Given the description of an element on the screen output the (x, y) to click on. 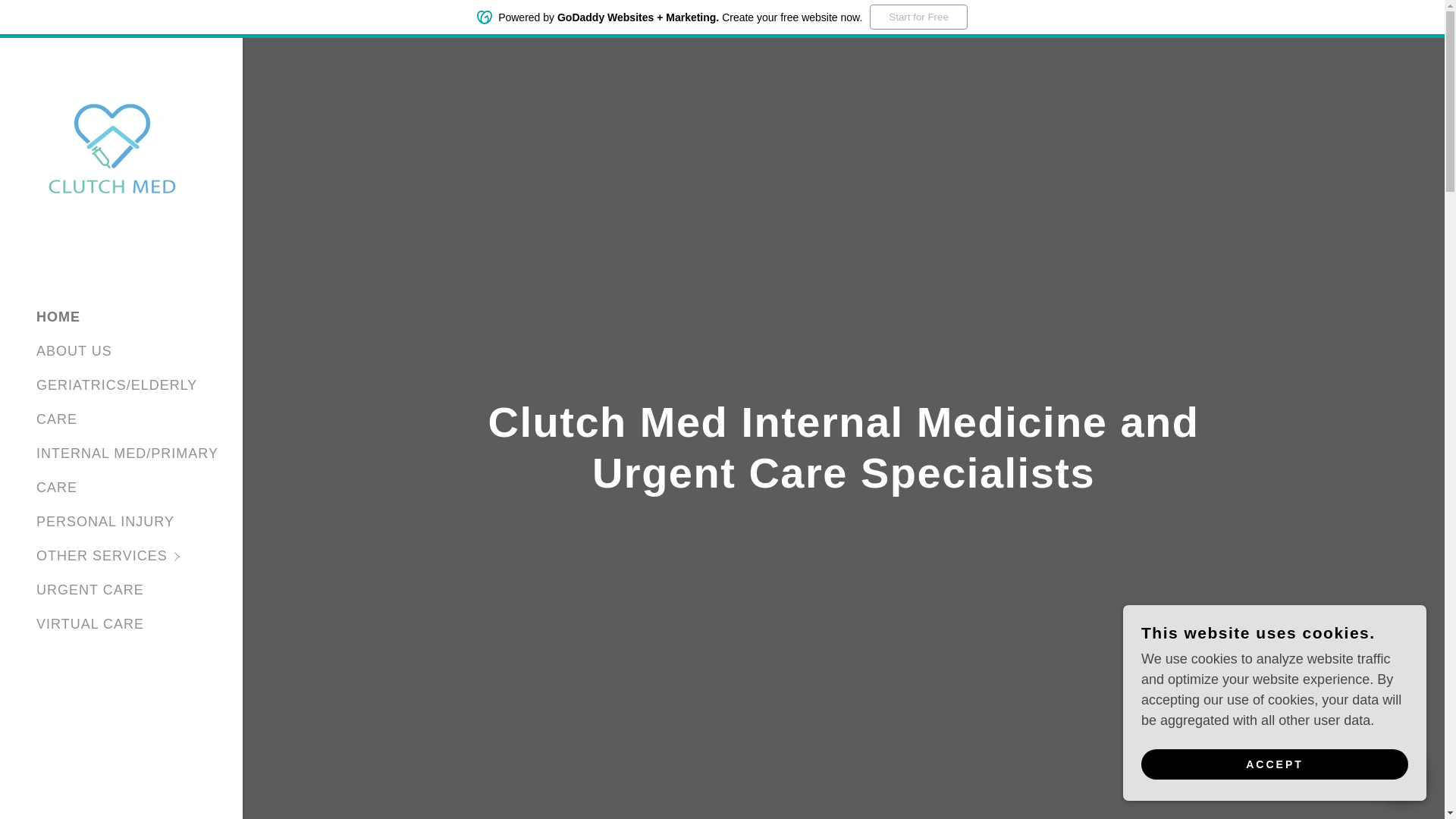
PERSONAL INJURY (105, 521)
URGENT CARE (90, 589)
ABOUT US (74, 350)
HOME (58, 316)
ACCEPT (1274, 764)
VIRTUAL CARE (90, 623)
OTHER SERVICES (139, 555)
